Given the description of an element on the screen output the (x, y) to click on. 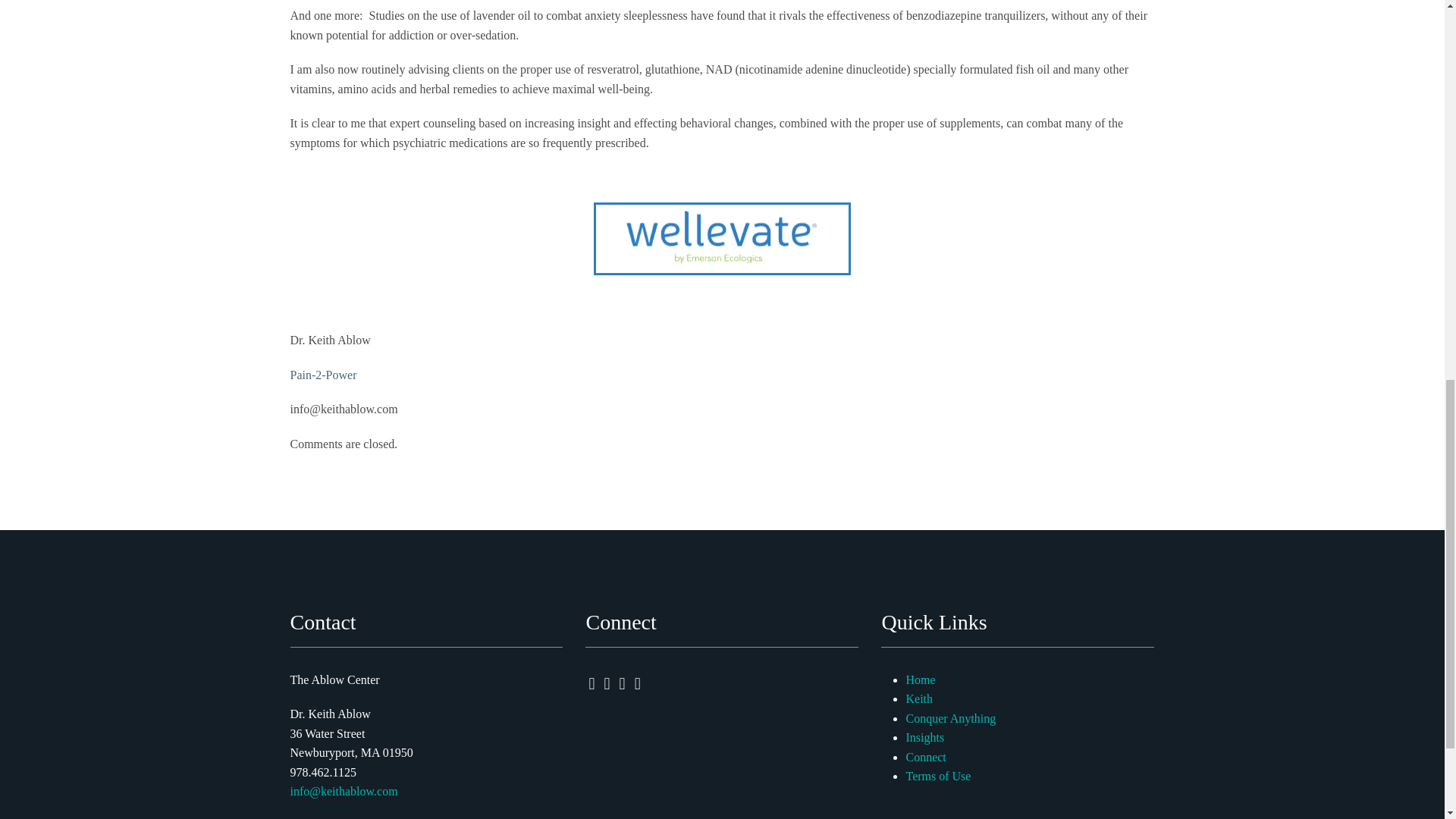
Connect (924, 757)
Pain-2-Power (322, 374)
Home (919, 679)
Keith (919, 698)
Conquer Anything (950, 717)
Terms of Use (938, 775)
Insights (924, 737)
